Given the description of an element on the screen output the (x, y) to click on. 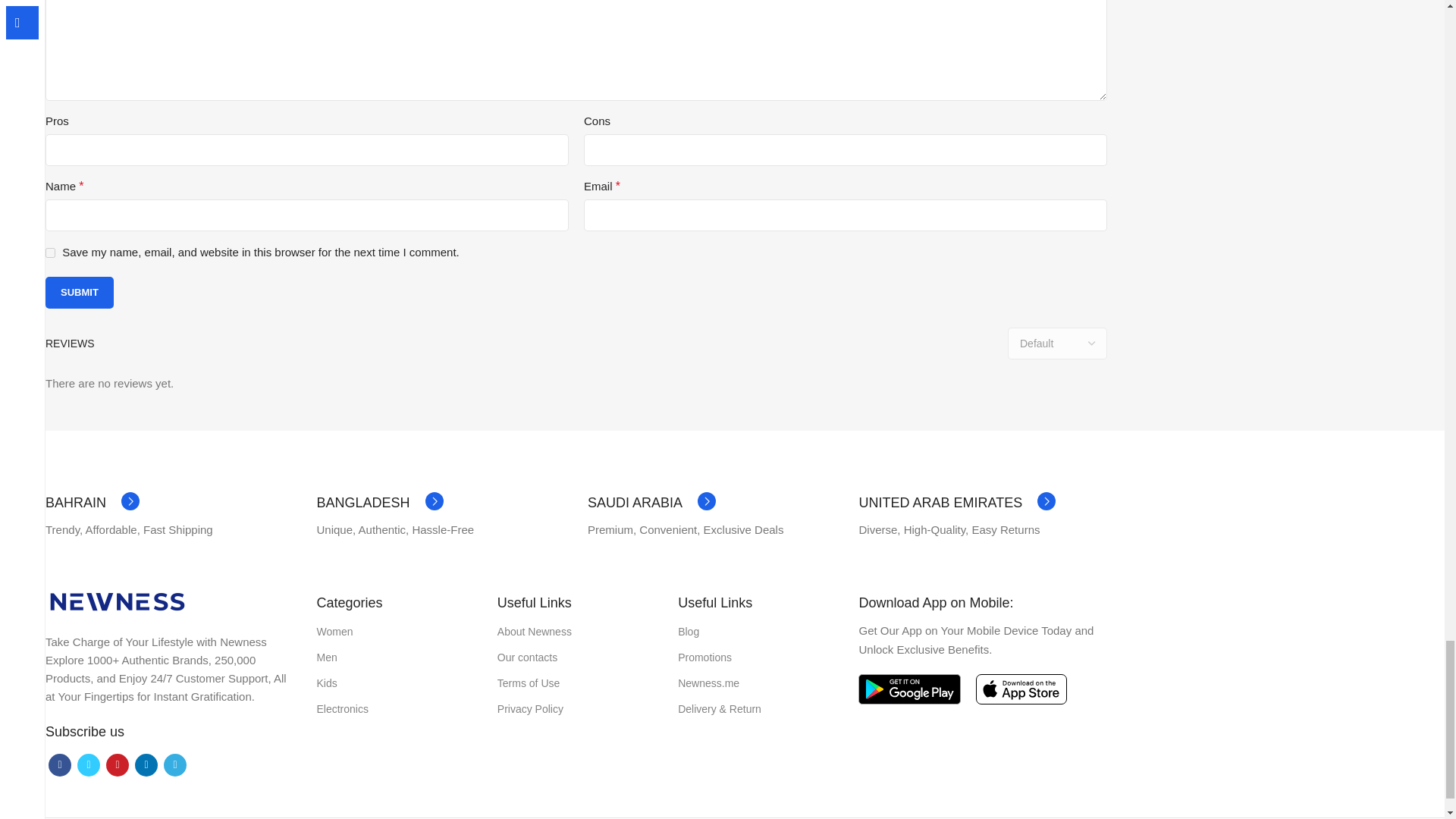
yes (50, 252)
Submit (79, 292)
